Given the description of an element on the screen output the (x, y) to click on. 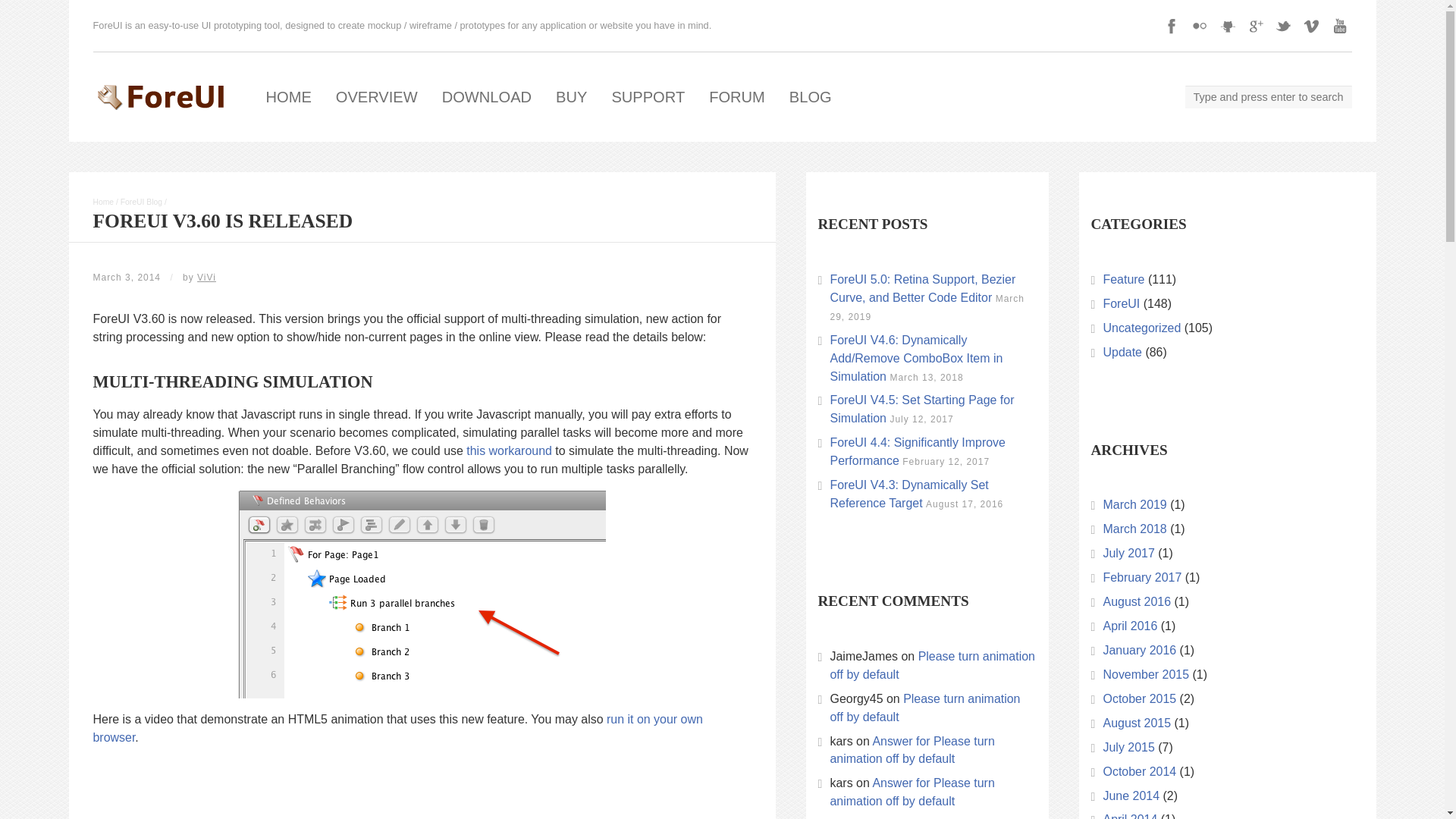
GitHub2 (1226, 25)
YouTube (1338, 25)
Screen Shot 2014-03-03 at 1.49.45 PM (421, 594)
Vimeo (1311, 25)
BLOG (810, 96)
Flickr (1199, 25)
Home (103, 202)
Facebook (1170, 25)
Posts by ViVi (205, 276)
BUY (570, 96)
